Given the description of an element on the screen output the (x, y) to click on. 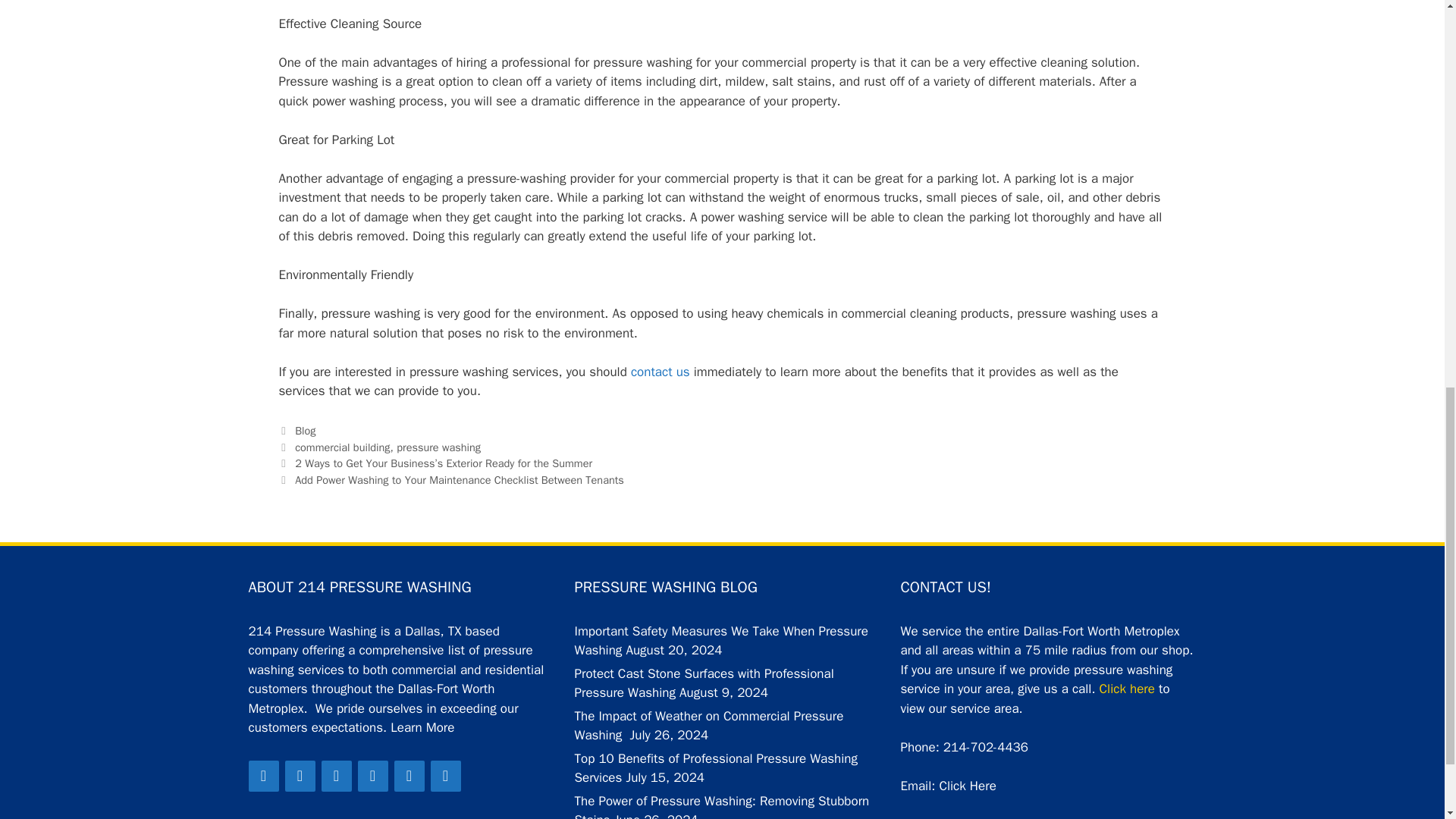
Blog (305, 430)
Next (451, 479)
Learn More (422, 727)
pressure washing (438, 447)
Previous (435, 463)
contact us (660, 371)
commercial building (342, 447)
